Given the description of an element on the screen output the (x, y) to click on. 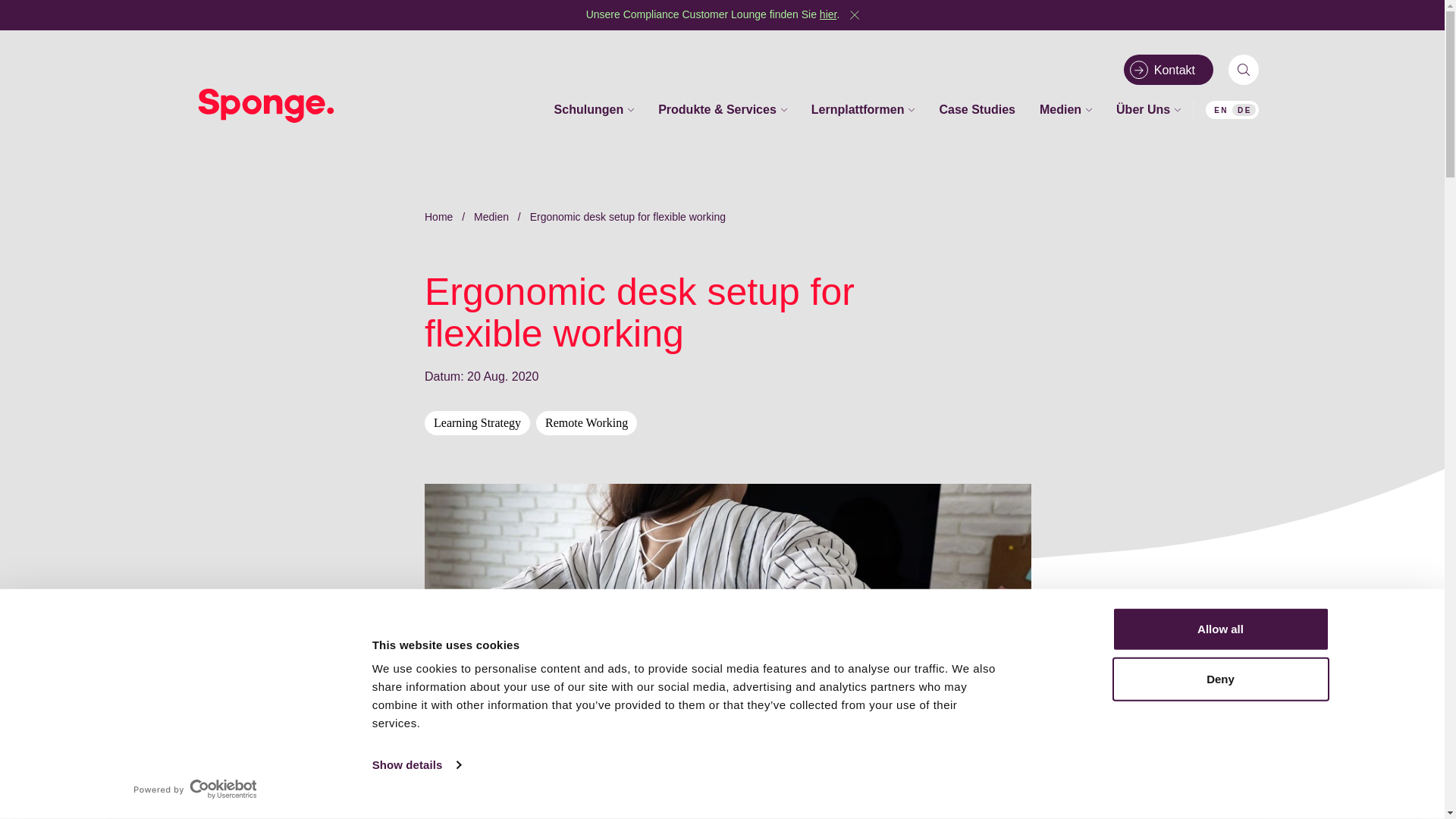
preferences (682, 711)
Decline (998, 784)
Accept (935, 784)
Show details (416, 764)
cookies (461, 688)
